Given the description of an element on the screen output the (x, y) to click on. 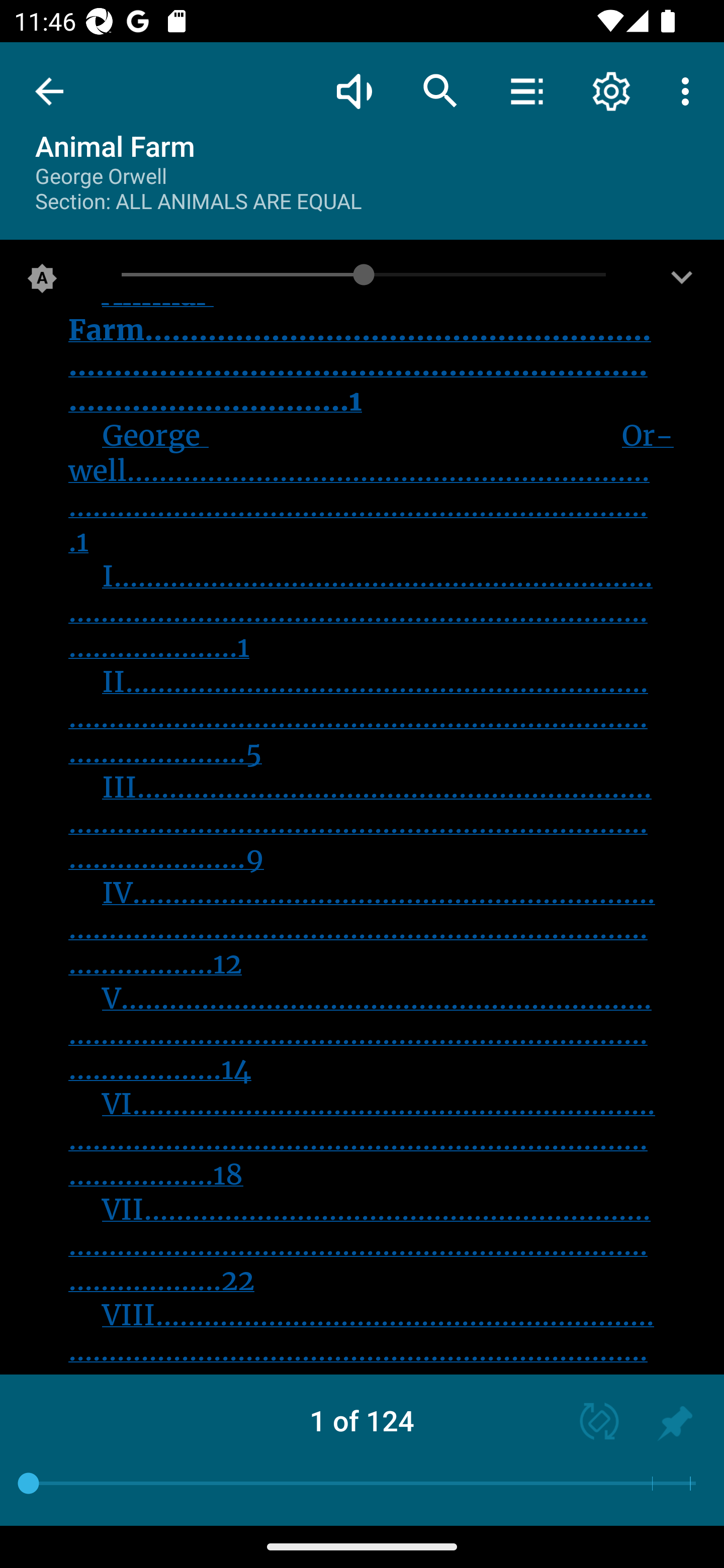
Exit reading (49, 91)
Read aloud (354, 90)
Text search (440, 90)
Contents / Bookmarks / Quotes (526, 90)
Reading settings (611, 90)
More options (688, 90)
Selected screen brightness (42, 281)
Screen brightness settings (681, 281)
1 of 124 (361, 1420)
Screen orientation (590, 1423)
Add to history (674, 1423)
